Given the description of an element on the screen output the (x, y) to click on. 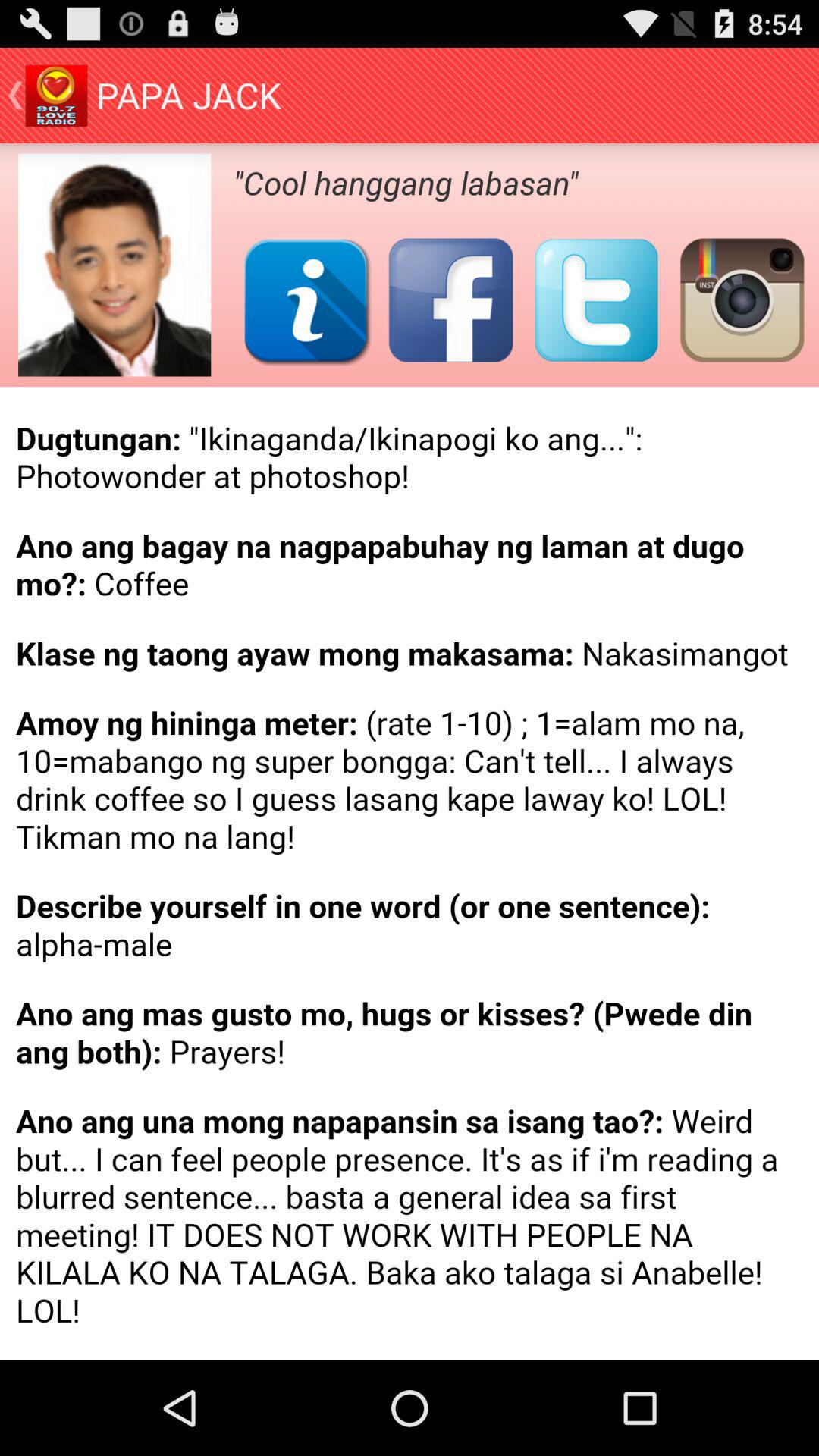
select twitter (596, 299)
